Given the description of an element on the screen output the (x, y) to click on. 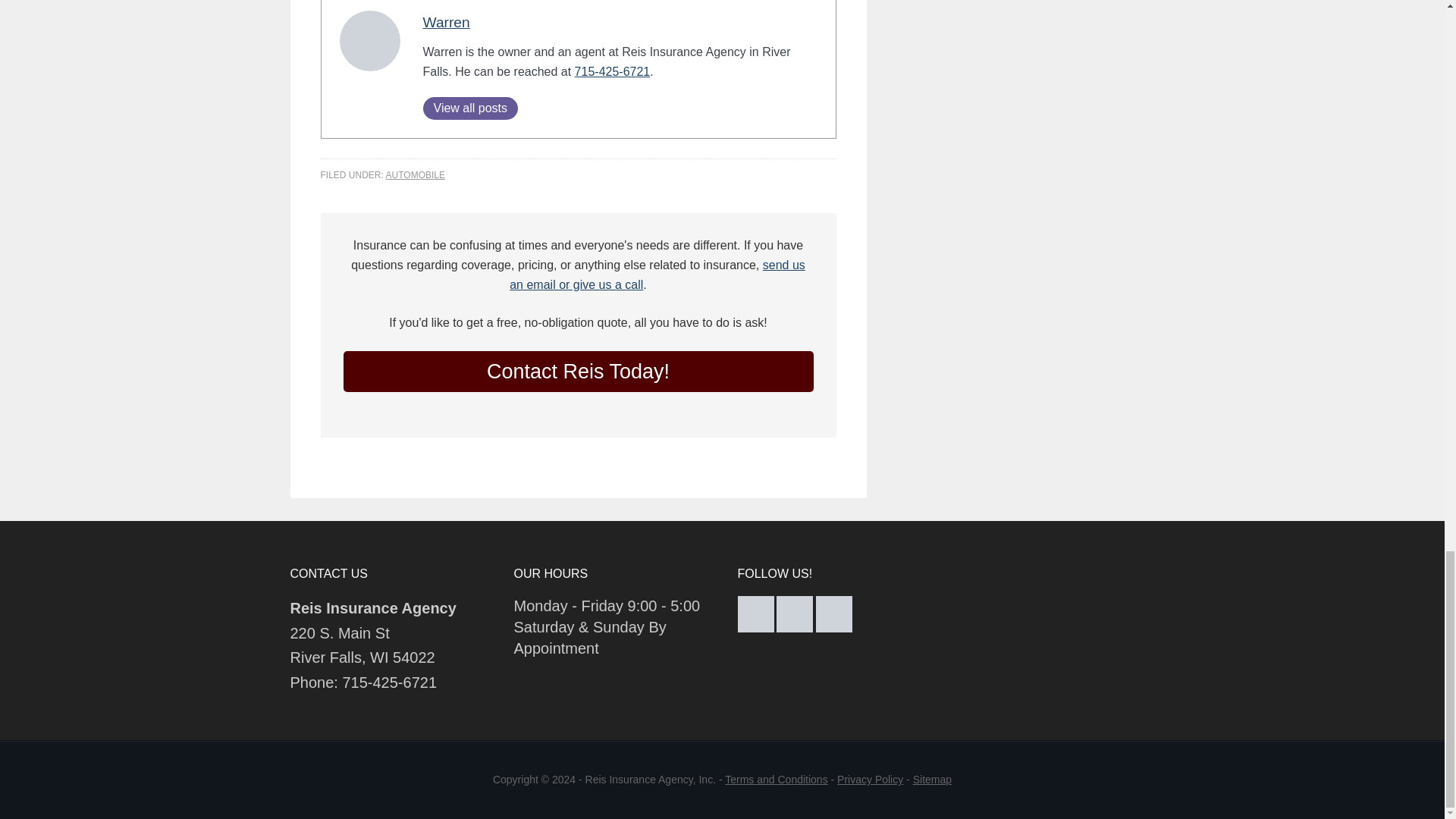
715-425-6721 (612, 71)
AUTOMOBILE (415, 174)
Warren (446, 22)
Contact Reis Today! (577, 371)
View all posts (470, 108)
View all posts (470, 108)
Warren (446, 22)
send us an email or give us a call (657, 274)
